Given the description of an element on the screen output the (x, y) to click on. 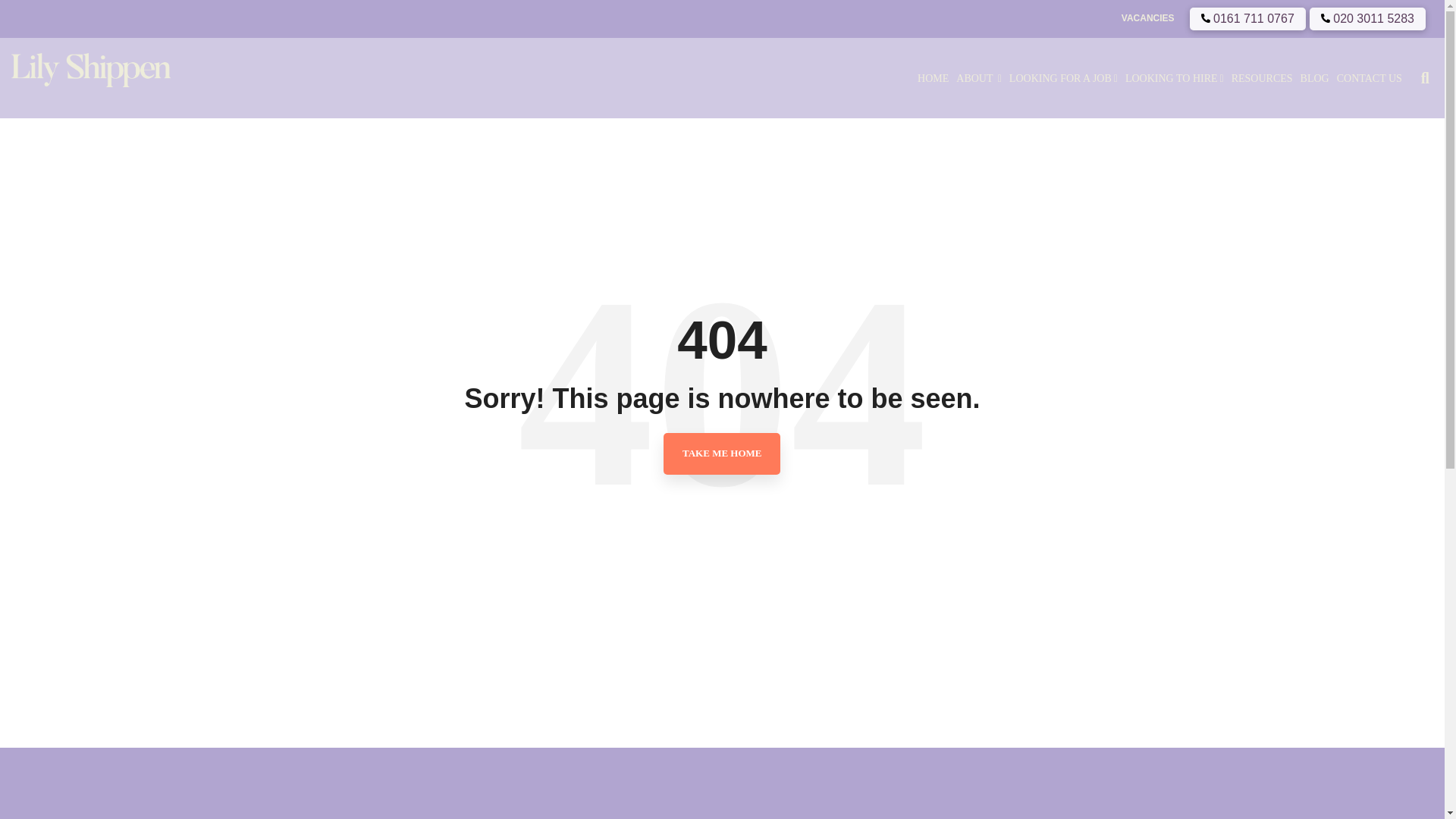
CONTACT US (1369, 78)
HOME (933, 78)
LOOKING TO HIRE (1174, 78)
ABOUT (979, 78)
RESOURCES (1262, 78)
VACANCIES (1140, 18)
0161 711 0767 (1247, 18)
TAKE ME HOME (721, 454)
020 3011 5283 (1366, 18)
LOOKING FOR A JOB (1063, 78)
BLOG (1315, 78)
